Given the description of an element on the screen output the (x, y) to click on. 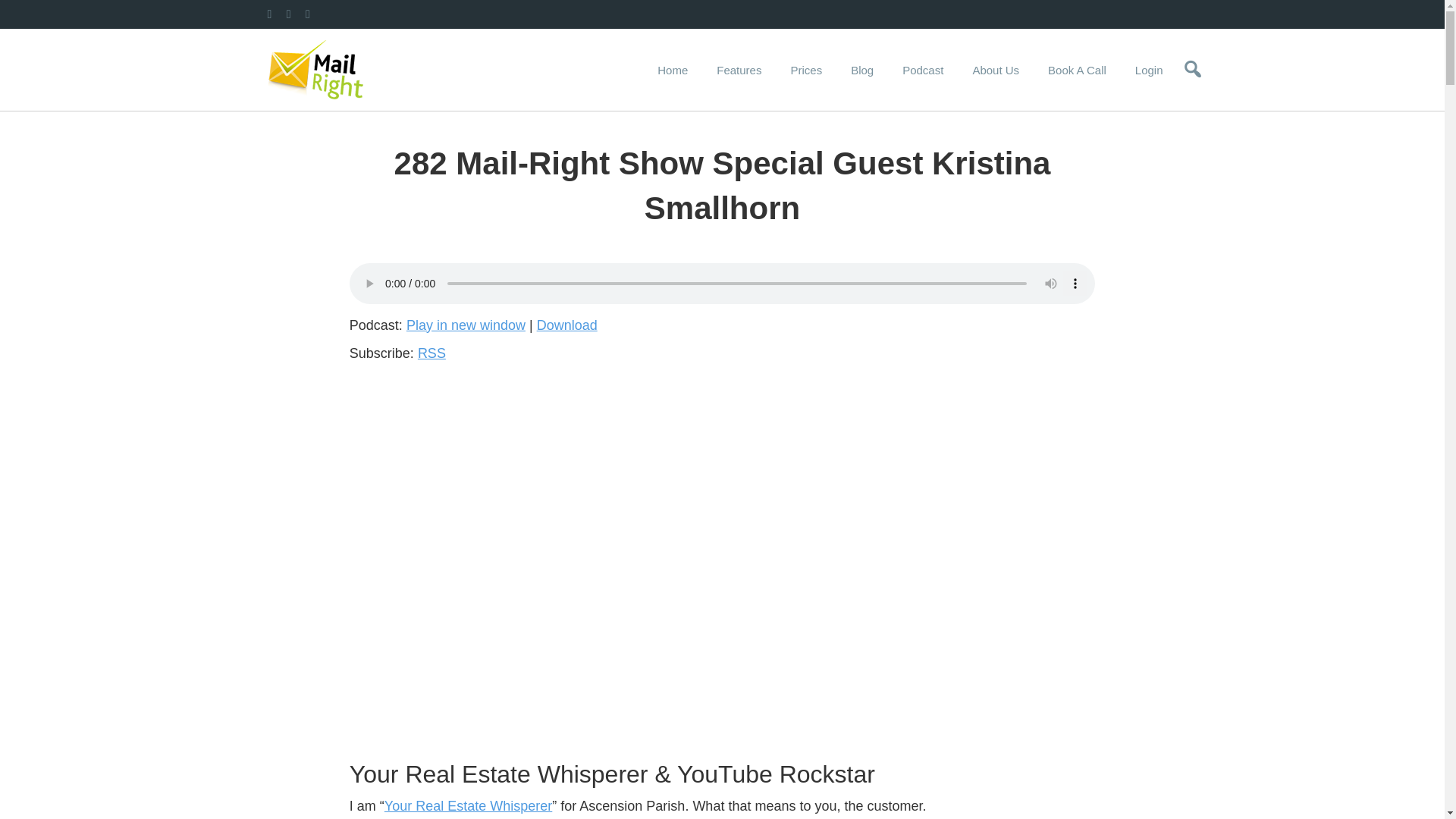
Home (672, 69)
Login (1149, 69)
Play in new window (465, 324)
RSS (431, 353)
Plans (805, 69)
Book A Call (1077, 69)
Your Real Estate Whisperer (467, 806)
Book a Call (1077, 69)
Download (566, 324)
Subscribe via RSS (431, 353)
Podcast (923, 69)
Download (566, 324)
Features (738, 69)
Features (738, 69)
About Us (995, 69)
